Given the description of an element on the screen output the (x, y) to click on. 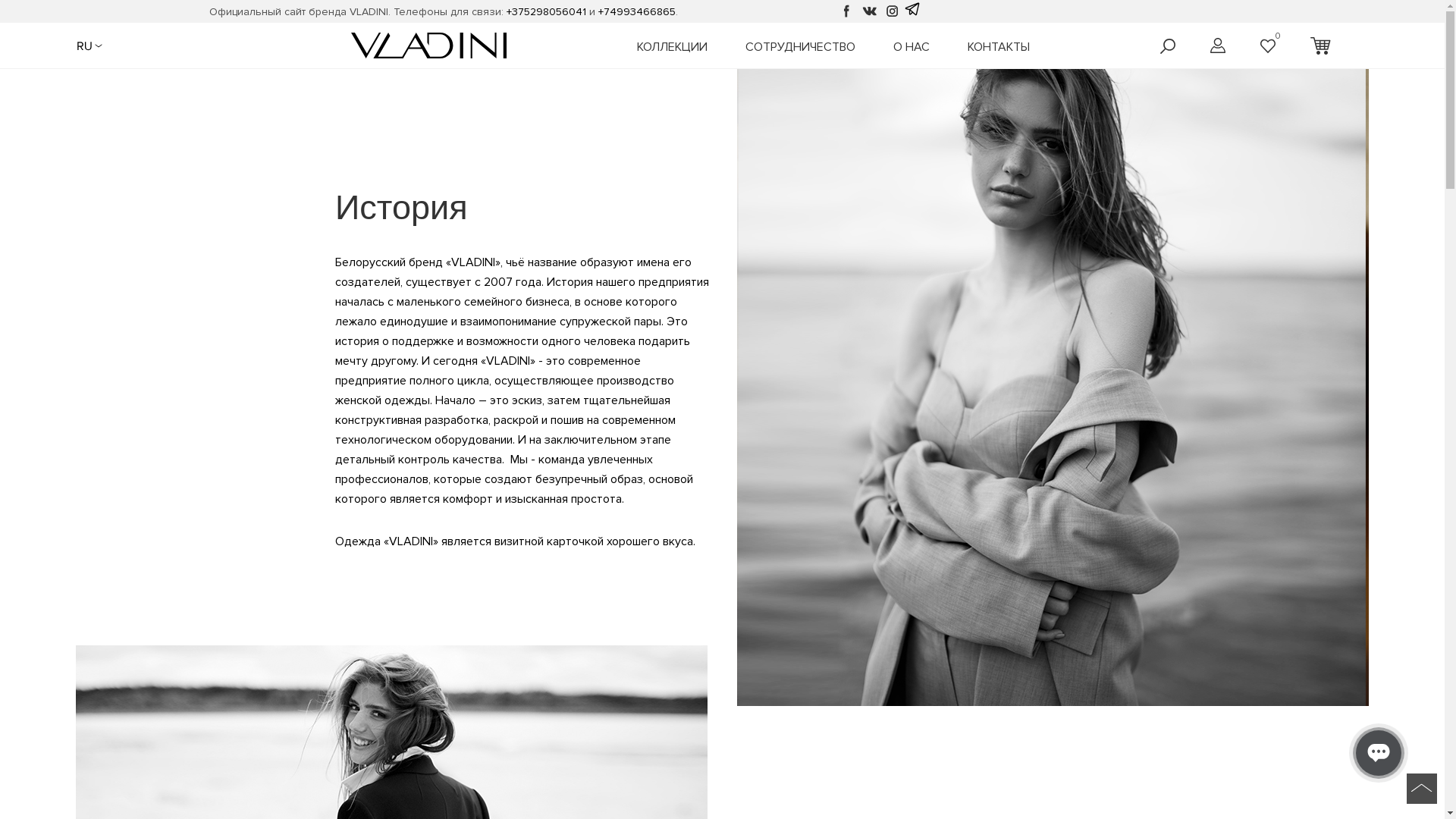
0 Element type: text (1267, 45)
  Element type: text (1321, 44)
+375298056041 Element type: text (546, 10)
Vladini Element type: hover (428, 45)
+74993466865 Element type: text (636, 10)
